Given the description of an element on the screen output the (x, y) to click on. 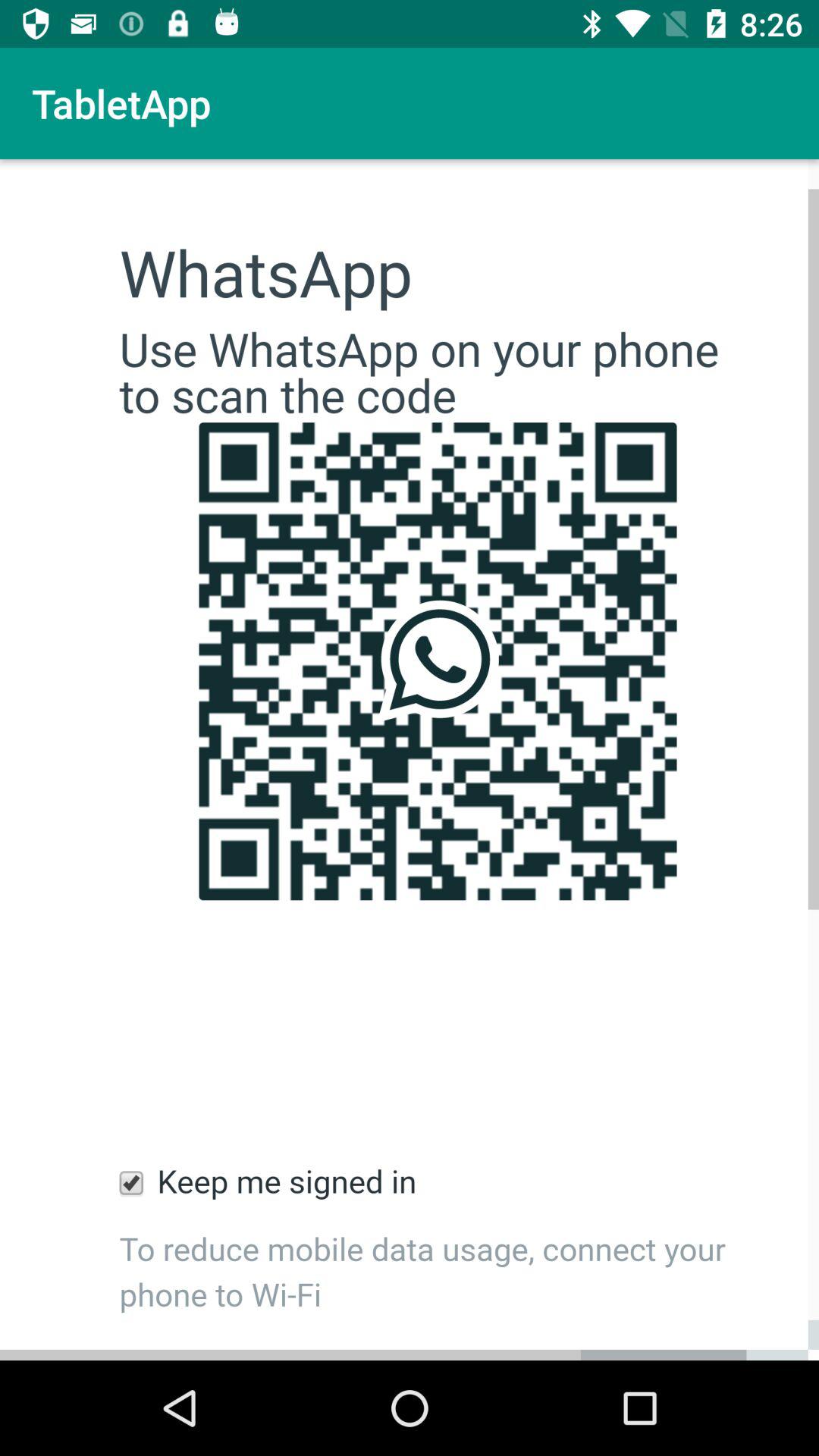
option to scan code in mobile (409, 759)
